Given the description of an element on the screen output the (x, y) to click on. 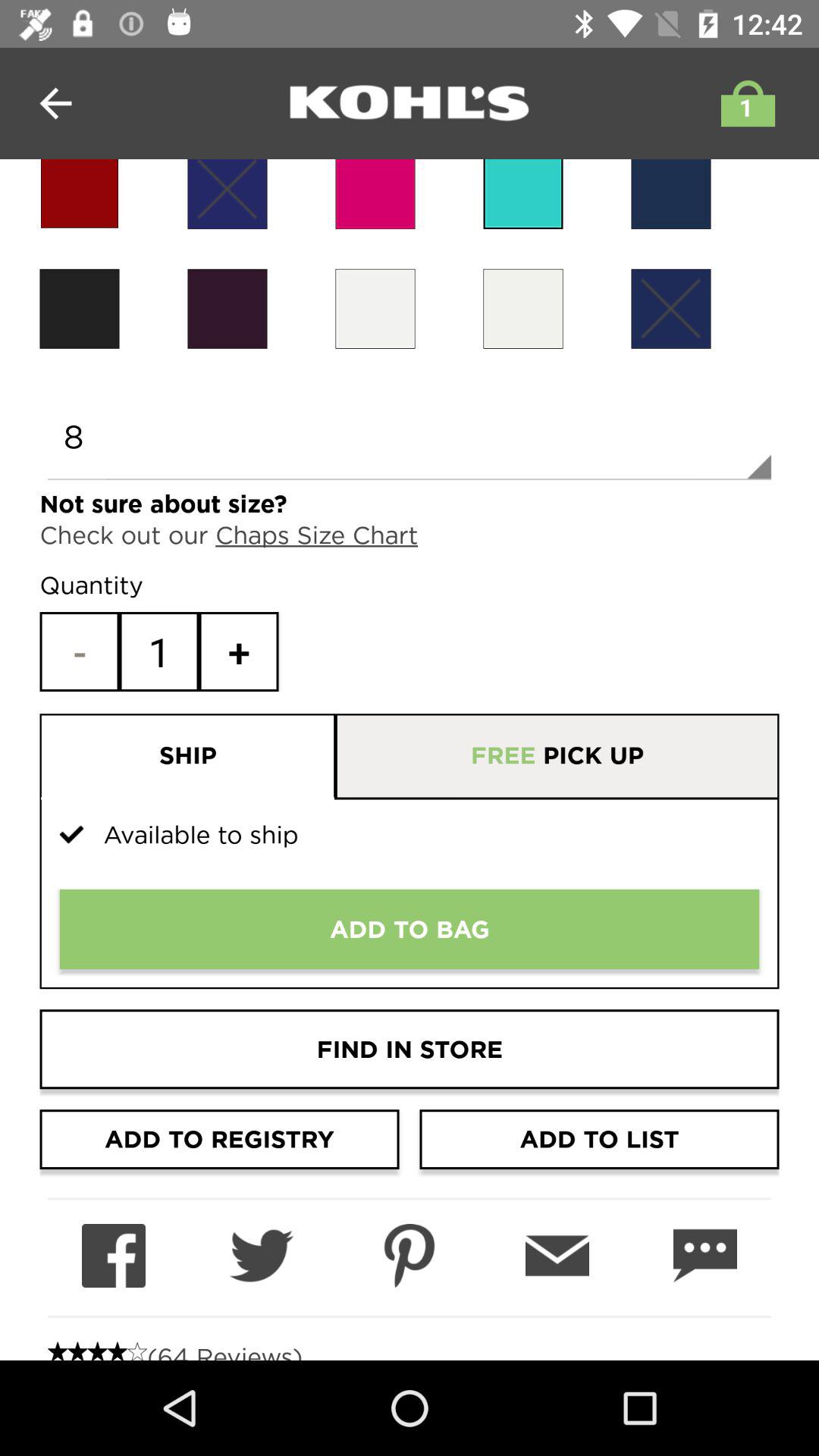
select color orange (375, 194)
